Given the description of an element on the screen output the (x, y) to click on. 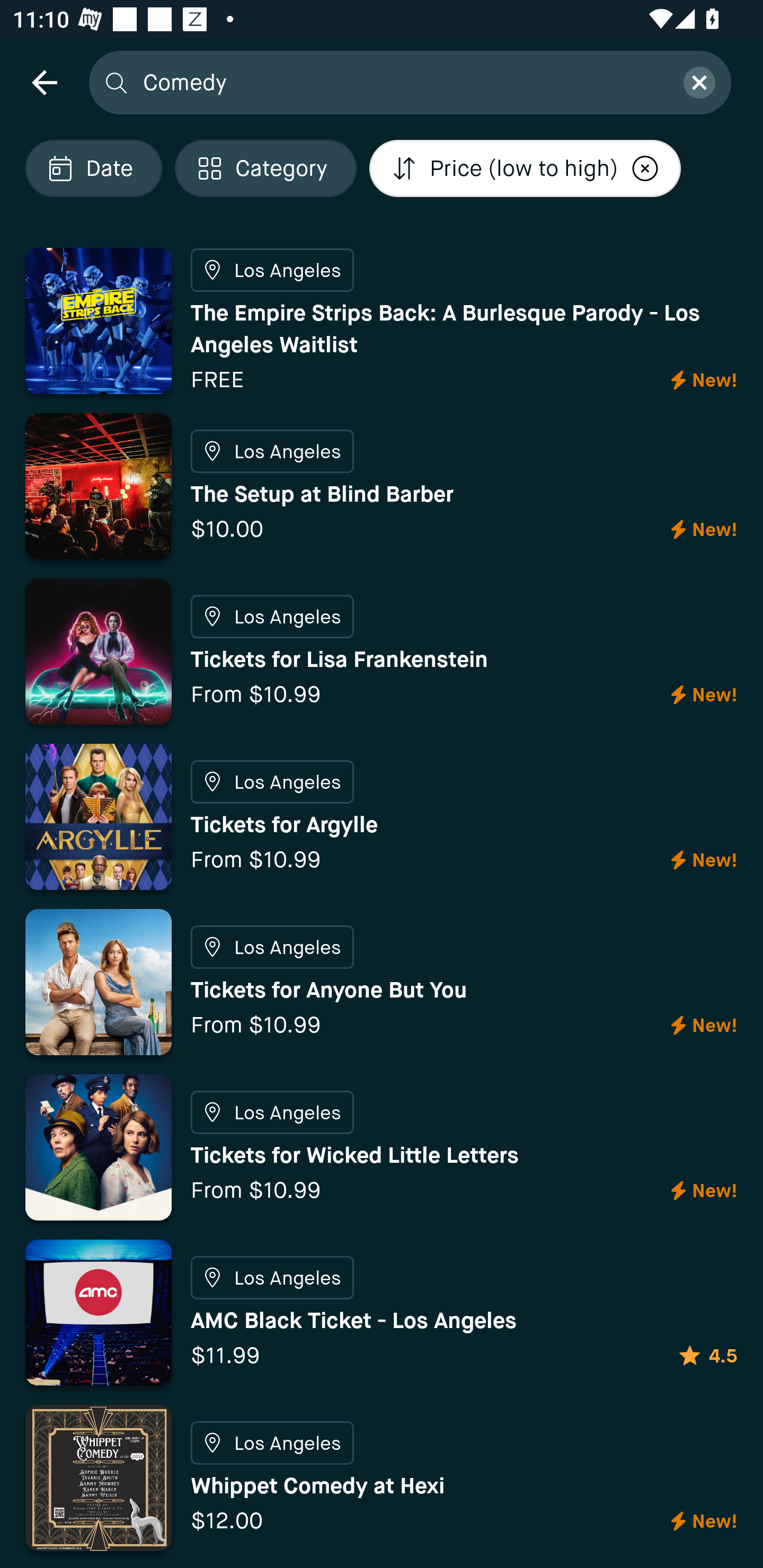
navigation icon (44, 81)
Comedy (402, 81)
Localized description Date (93, 168)
Localized description Category (265, 168)
Localized description (645, 168)
